Given the description of an element on the screen output the (x, y) to click on. 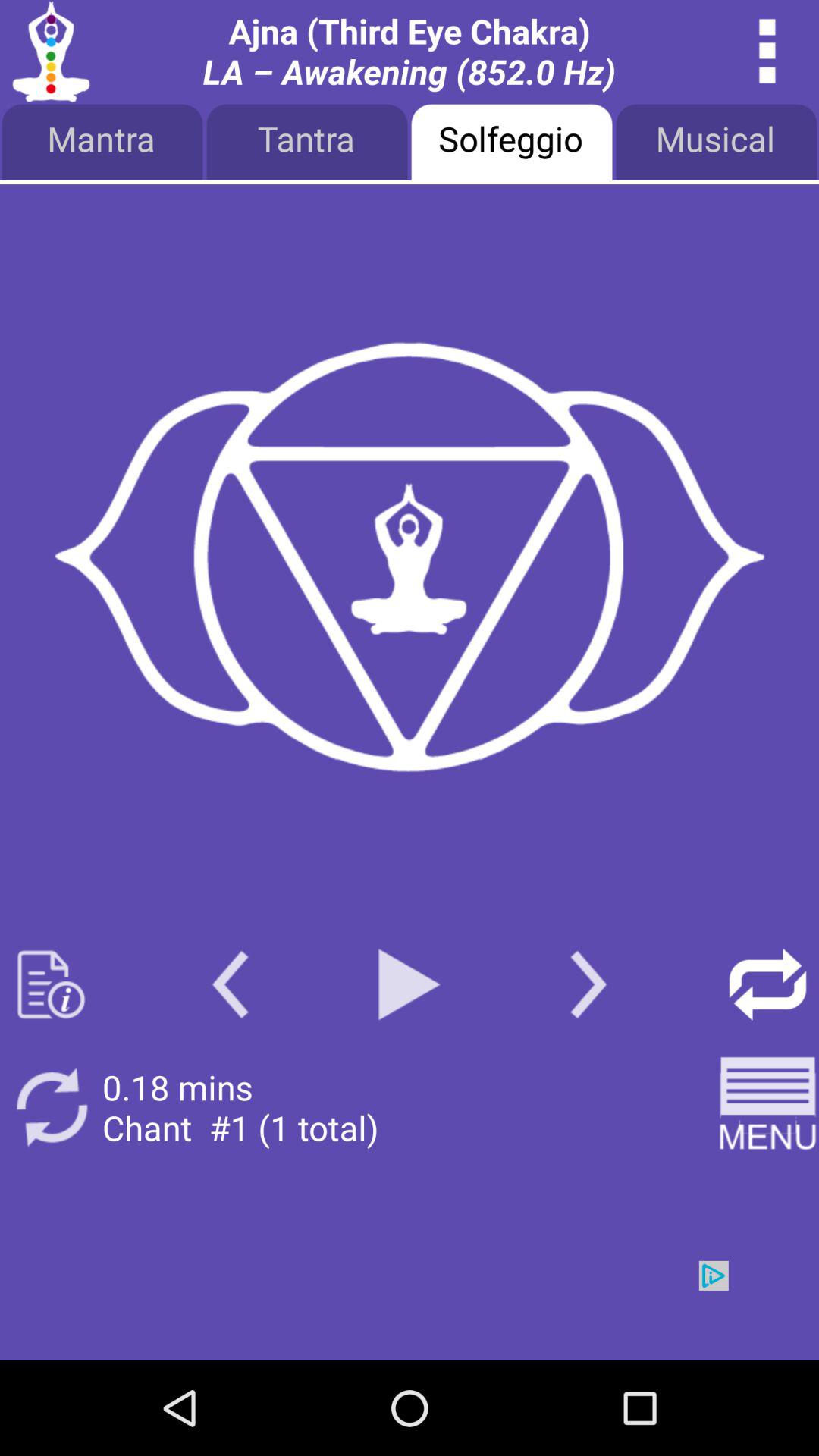
book page (51, 984)
